Given the description of an element on the screen output the (x, y) to click on. 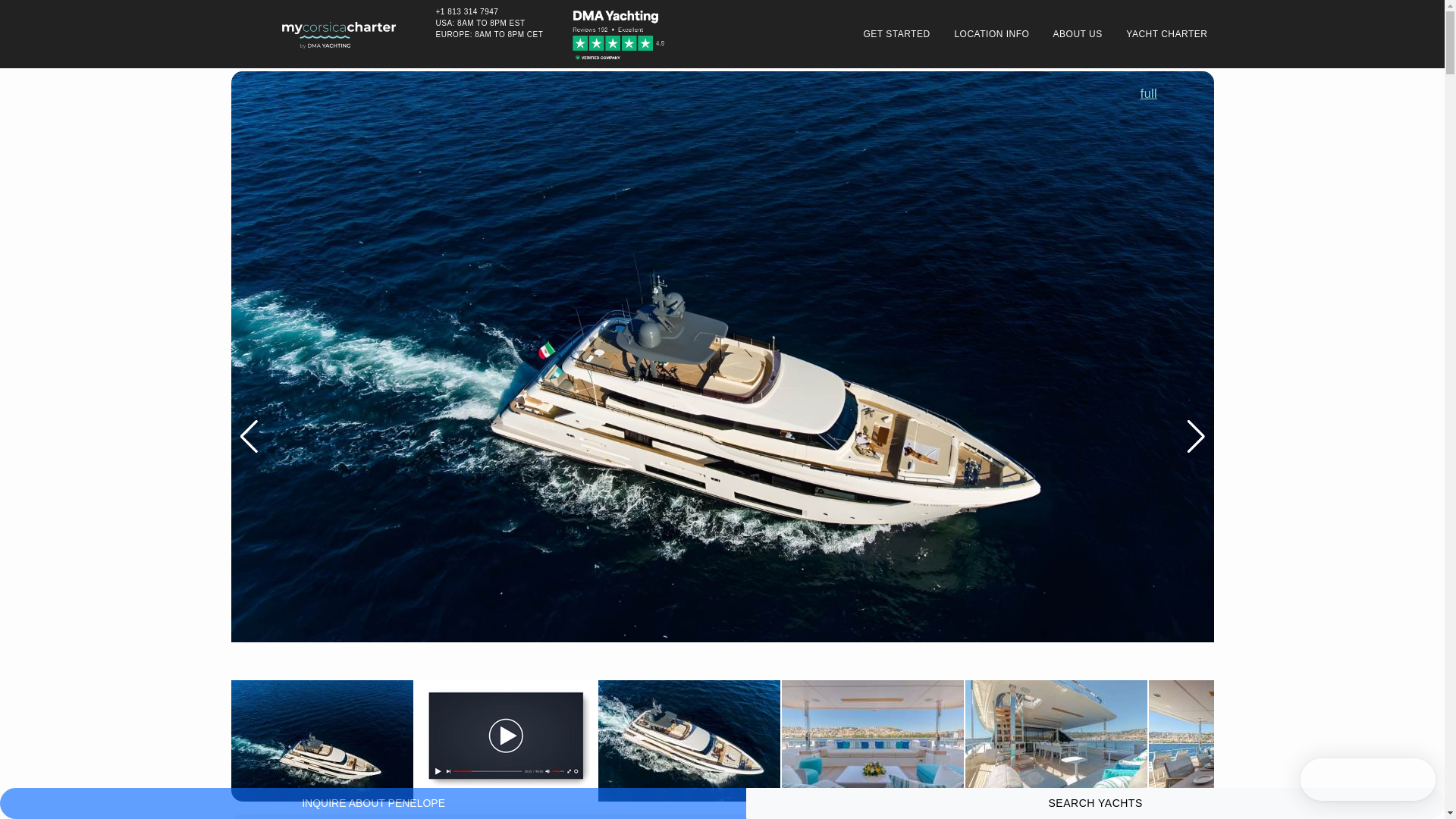
Smartsupp widget button (1367, 779)
ABOUT US (1071, 33)
YACHT CHARTER (1161, 33)
